Given the description of an element on the screen output the (x, y) to click on. 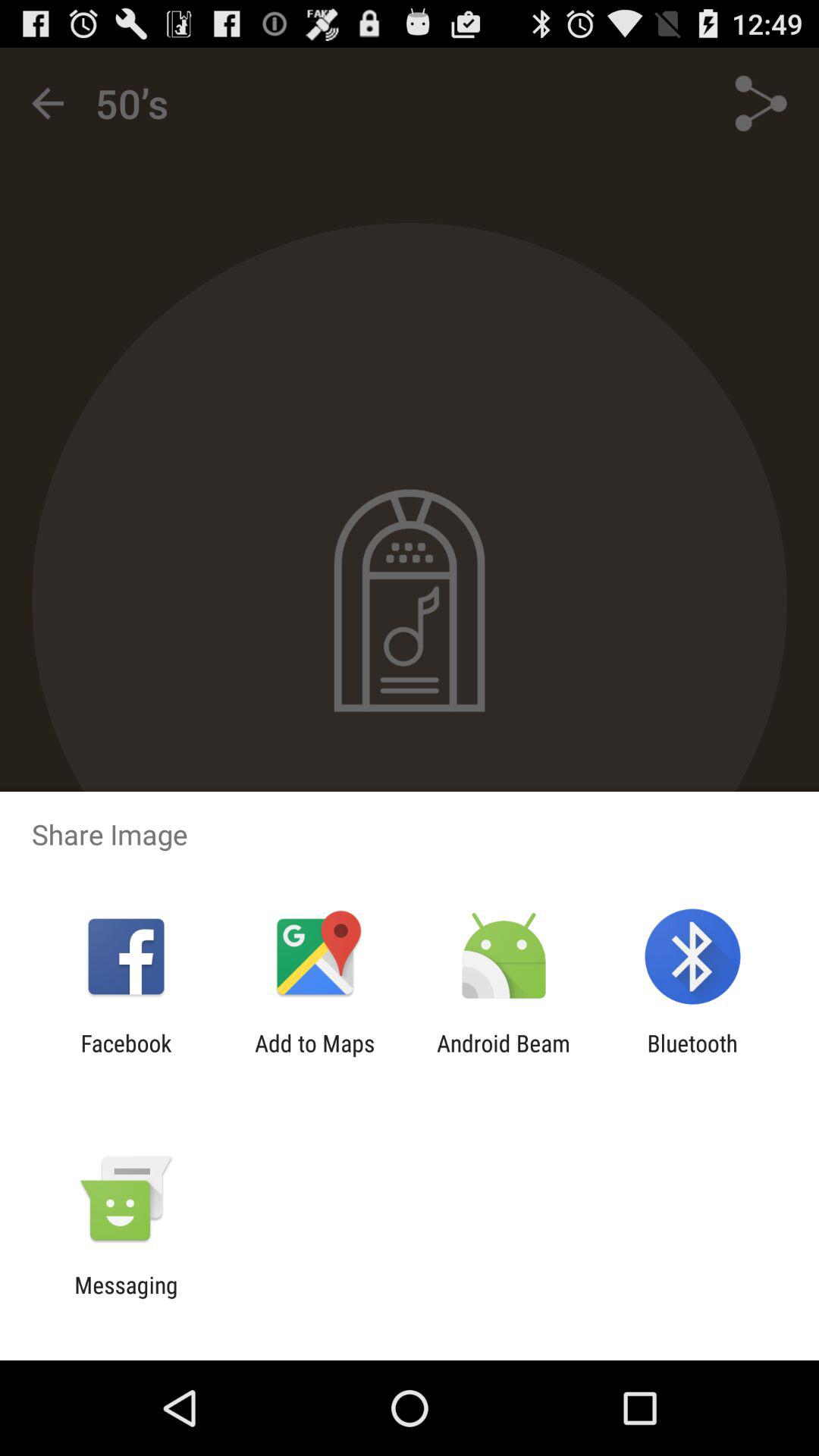
swipe until the add to maps app (314, 1056)
